Given the description of an element on the screen output the (x, y) to click on. 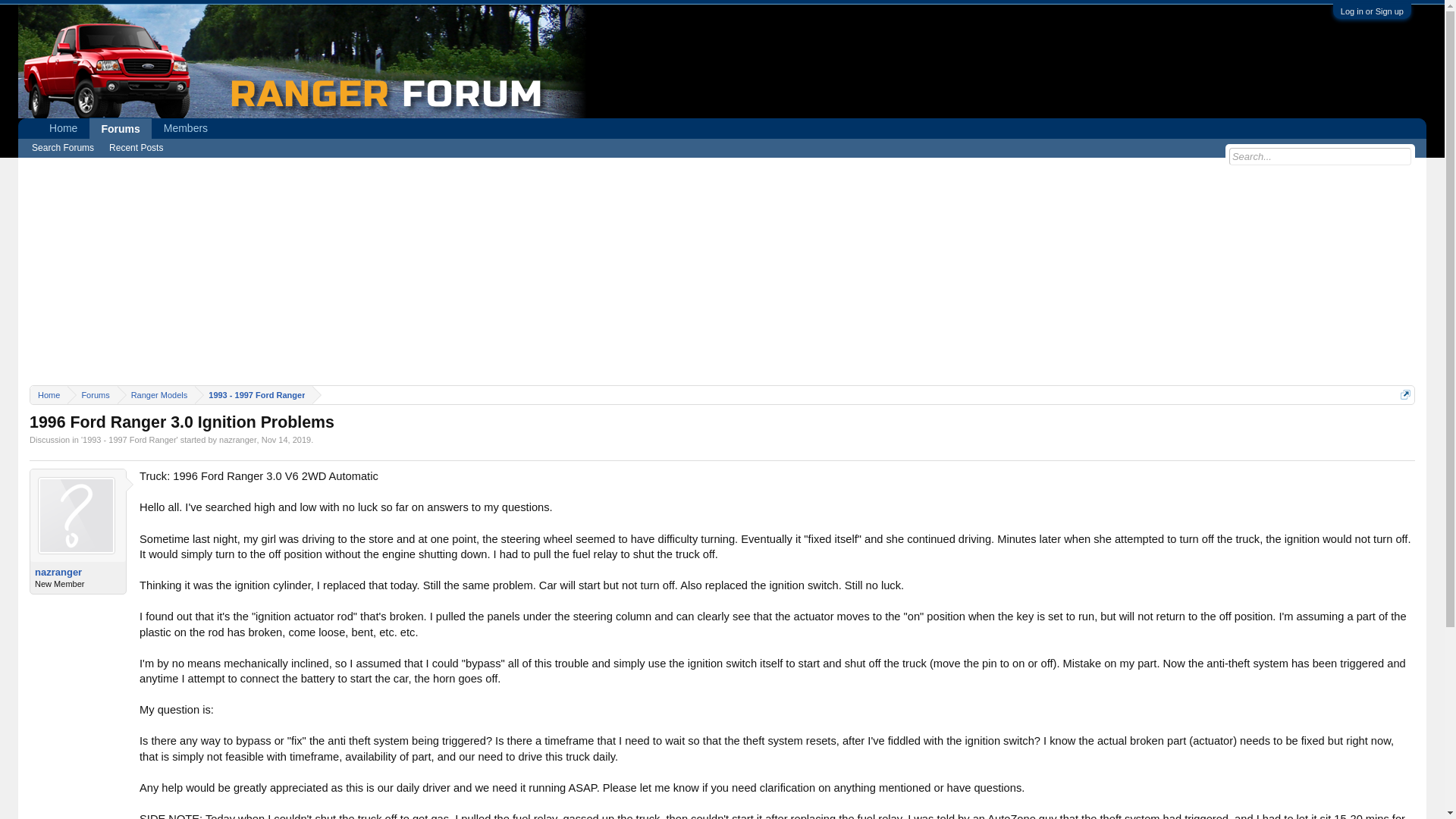
Enter your search and hit enter (1319, 156)
Search Forums (62, 148)
1993 - 1997 Ford Ranger (129, 439)
nazranger (77, 572)
Forums (119, 127)
1993 - 1997 Ford Ranger (254, 394)
Members (185, 128)
Open quick navigation (1405, 394)
Home (48, 394)
Nov 14, 2019 at 8:48 PM (286, 439)
